Given the description of an element on the screen output the (x, y) to click on. 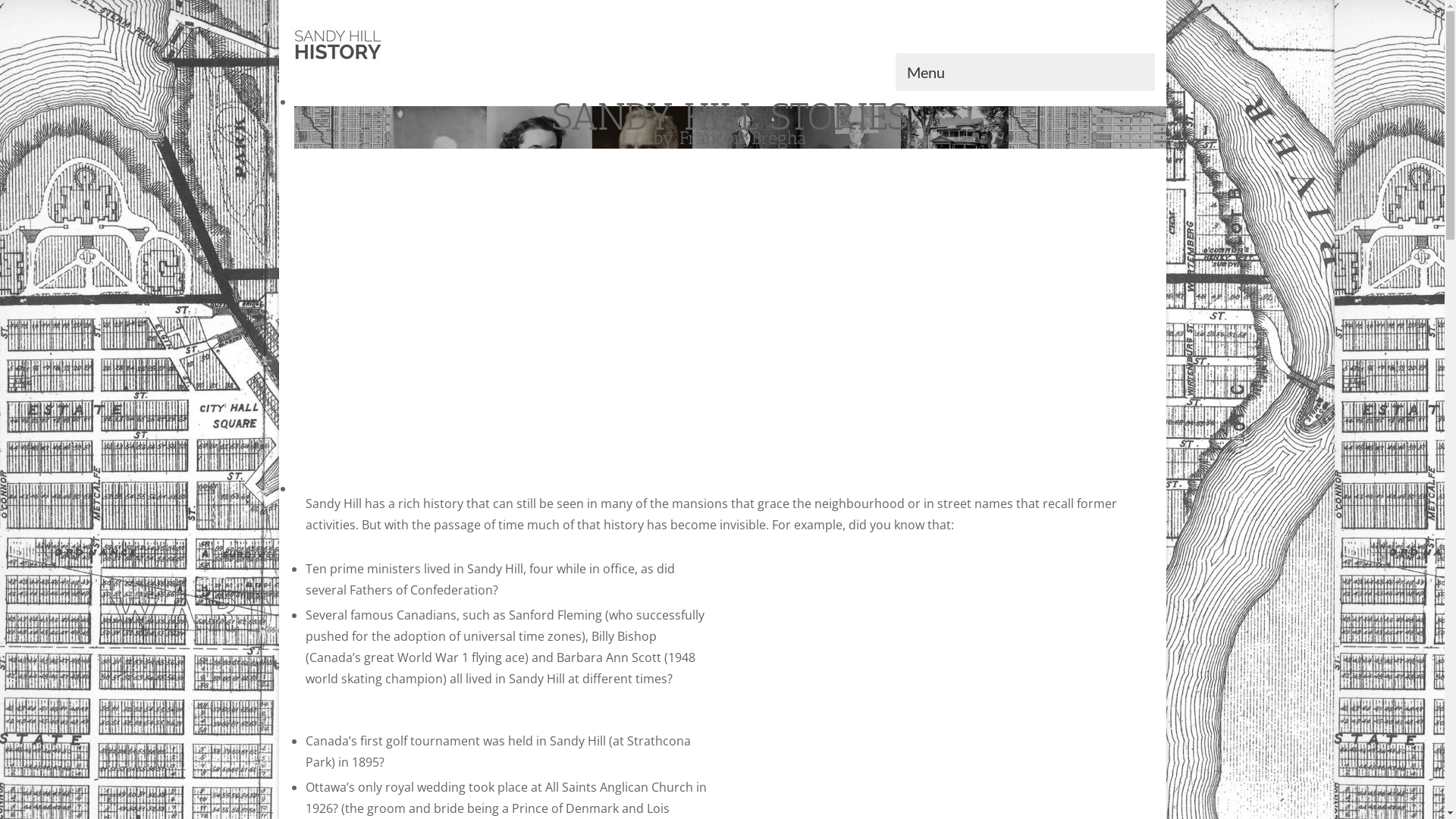
Menu Element type: text (1024, 72)
History of Sandy Hill Element type: hover (425, 45)
